Given the description of an element on the screen output the (x, y) to click on. 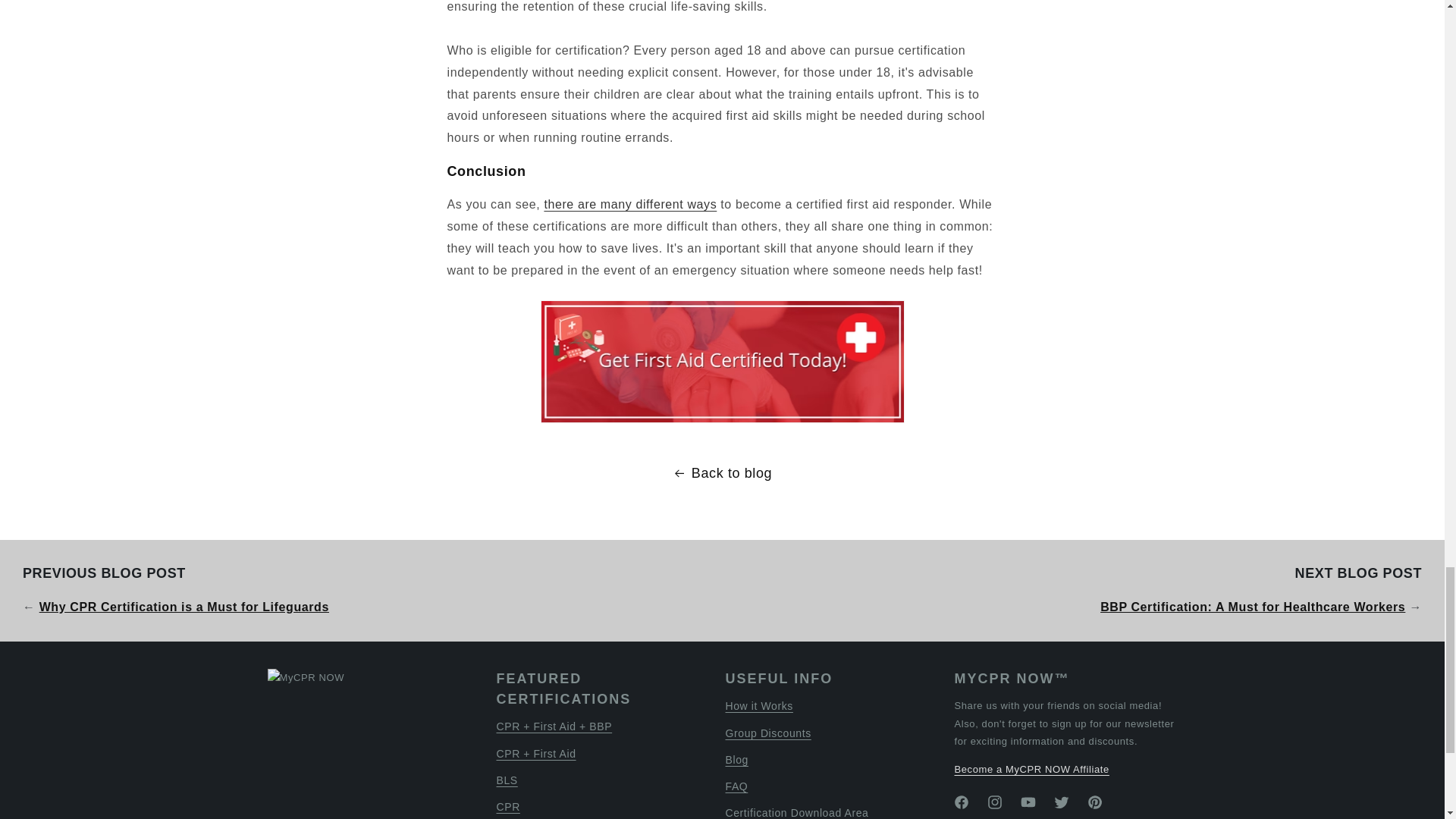
Why CPR Certification is a Must for Lifeguards (184, 606)
there are many different ways (629, 204)
BBP Certification: A Must for Healthcare Workers (1252, 606)
